Given the description of an element on the screen output the (x, y) to click on. 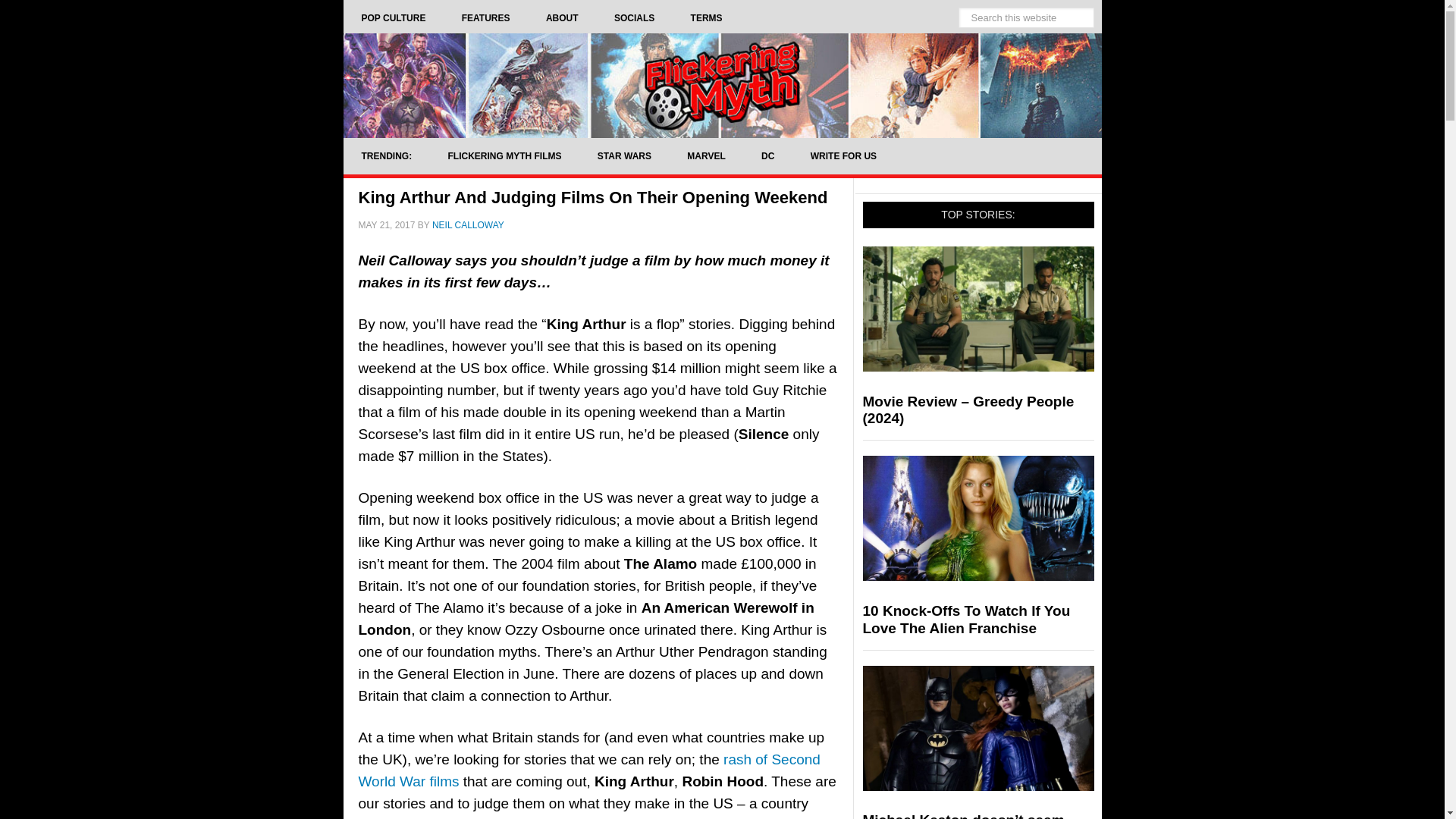
TERMS (706, 18)
FLICKERING MYTH (721, 85)
About Flickering Myth (561, 18)
TRENDING: (385, 156)
WRITE FOR US (843, 156)
FLICKERING MYTH FILMS (504, 156)
Features (486, 18)
FEATURES (486, 18)
DC (767, 156)
